Given the description of an element on the screen output the (x, y) to click on. 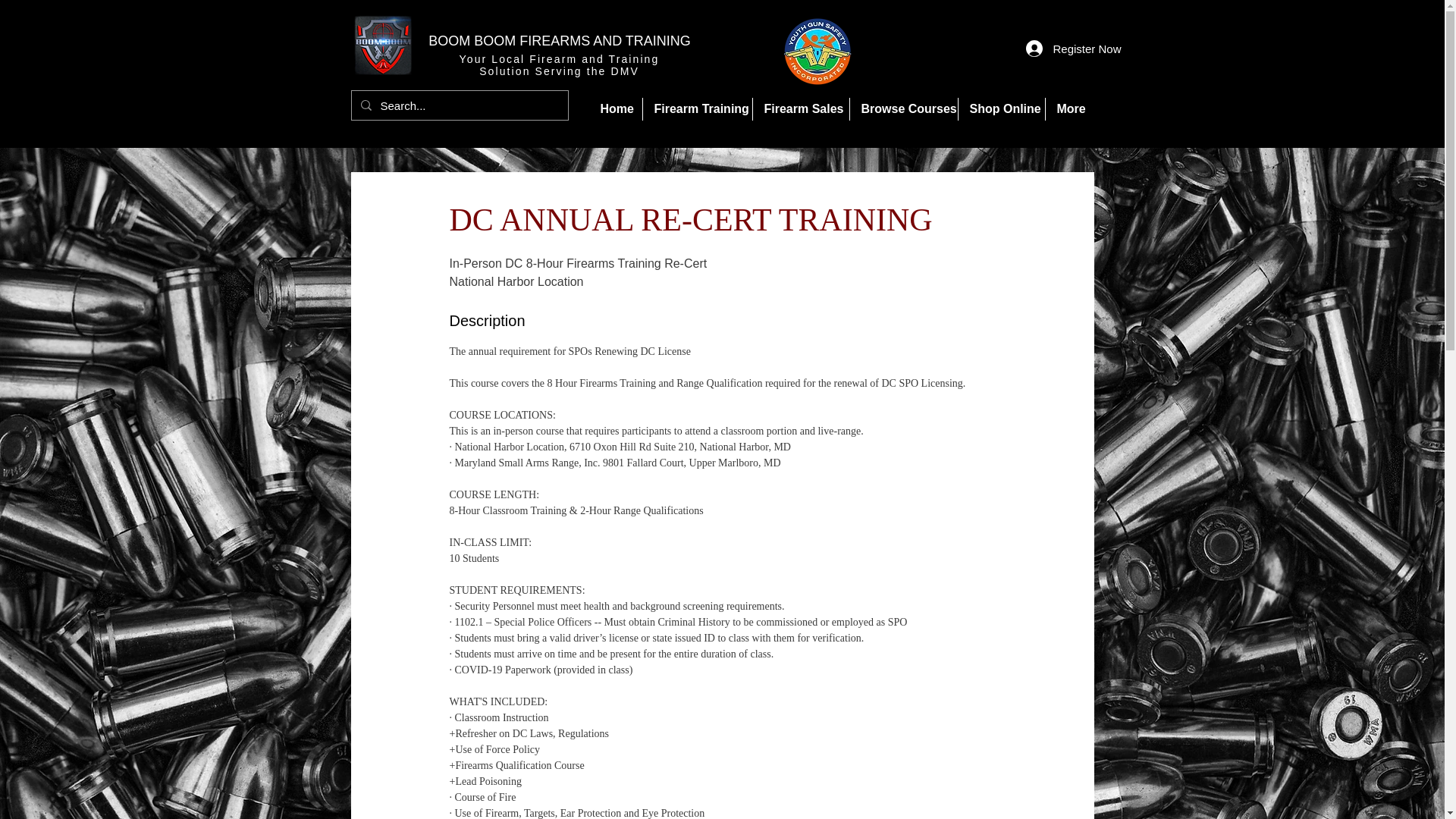
Register Now (1055, 48)
Your Local Firearm and Training Solution Serving the DMV (559, 64)
BOOM BOOM FIREARMS AND TRAINING (559, 40)
Shop Online (1001, 108)
Browse Courses (902, 108)
Firearm Sales (800, 108)
Home (615, 108)
Firearm Training (697, 108)
